Given the description of an element on the screen output the (x, y) to click on. 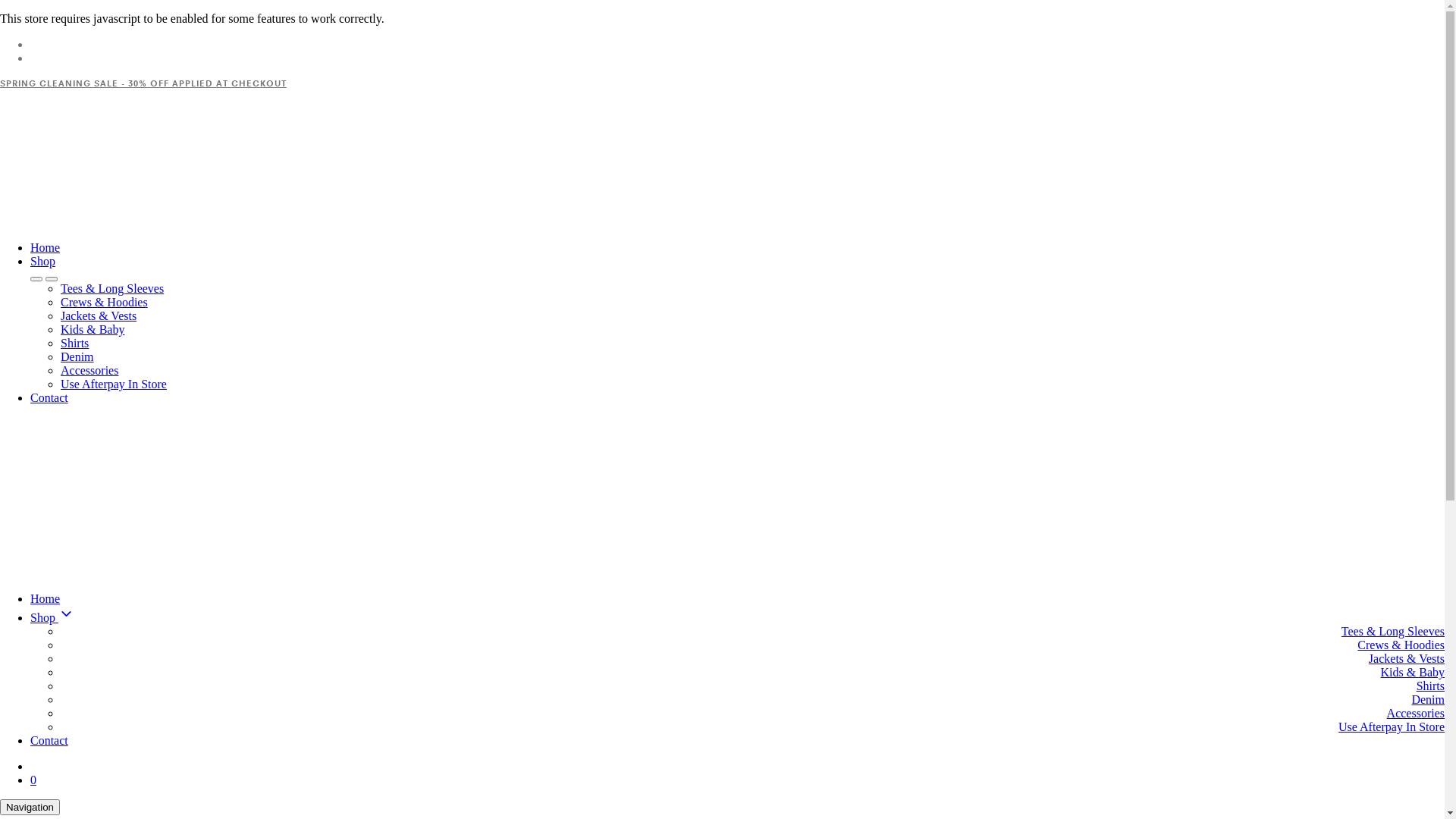
Tees & Long Sleeves Element type: text (111, 288)
Use Afterpay In Store Element type: text (1391, 726)
Jackets & Vests Element type: text (98, 315)
Jackets & Vests Element type: text (1406, 658)
Shirts Element type: text (74, 342)
Contact Element type: text (49, 397)
Shop Element type: text (42, 260)
Shop Element type: text (737, 614)
Accessories Element type: text (1415, 712)
SPRING CLEANING SALE - 30% OFF APPLIED AT CHECKOUT Element type: text (143, 82)
Home Element type: text (44, 598)
Tees & Long Sleeves Element type: text (1392, 630)
Navigation Element type: text (29, 807)
Accessories Element type: text (89, 370)
Use Afterpay In Store Element type: text (113, 383)
Crews & Hoodies Element type: text (1400, 644)
Home Element type: text (44, 247)
0 Element type: text (33, 779)
Shirts Element type: text (1430, 685)
Denim Element type: text (1427, 699)
Contact Element type: text (49, 740)
Kids & Baby Element type: text (92, 329)
Crews & Hoodies Element type: text (103, 301)
Kids & Baby Element type: text (1412, 671)
Denim Element type: text (77, 356)
